Given the description of an element on the screen output the (x, y) to click on. 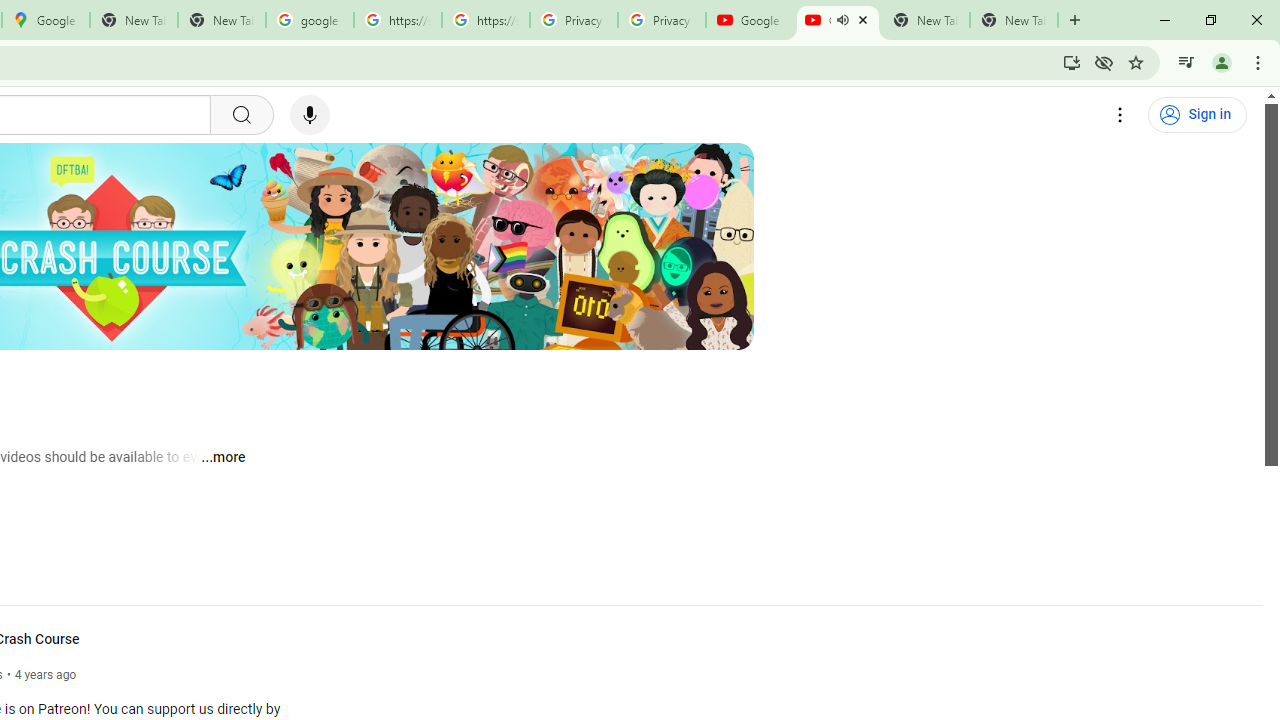
Search with your voice (309, 115)
Google - YouTube (749, 20)
https://scholar.google.com/ (485, 20)
